Given the description of an element on the screen output the (x, y) to click on. 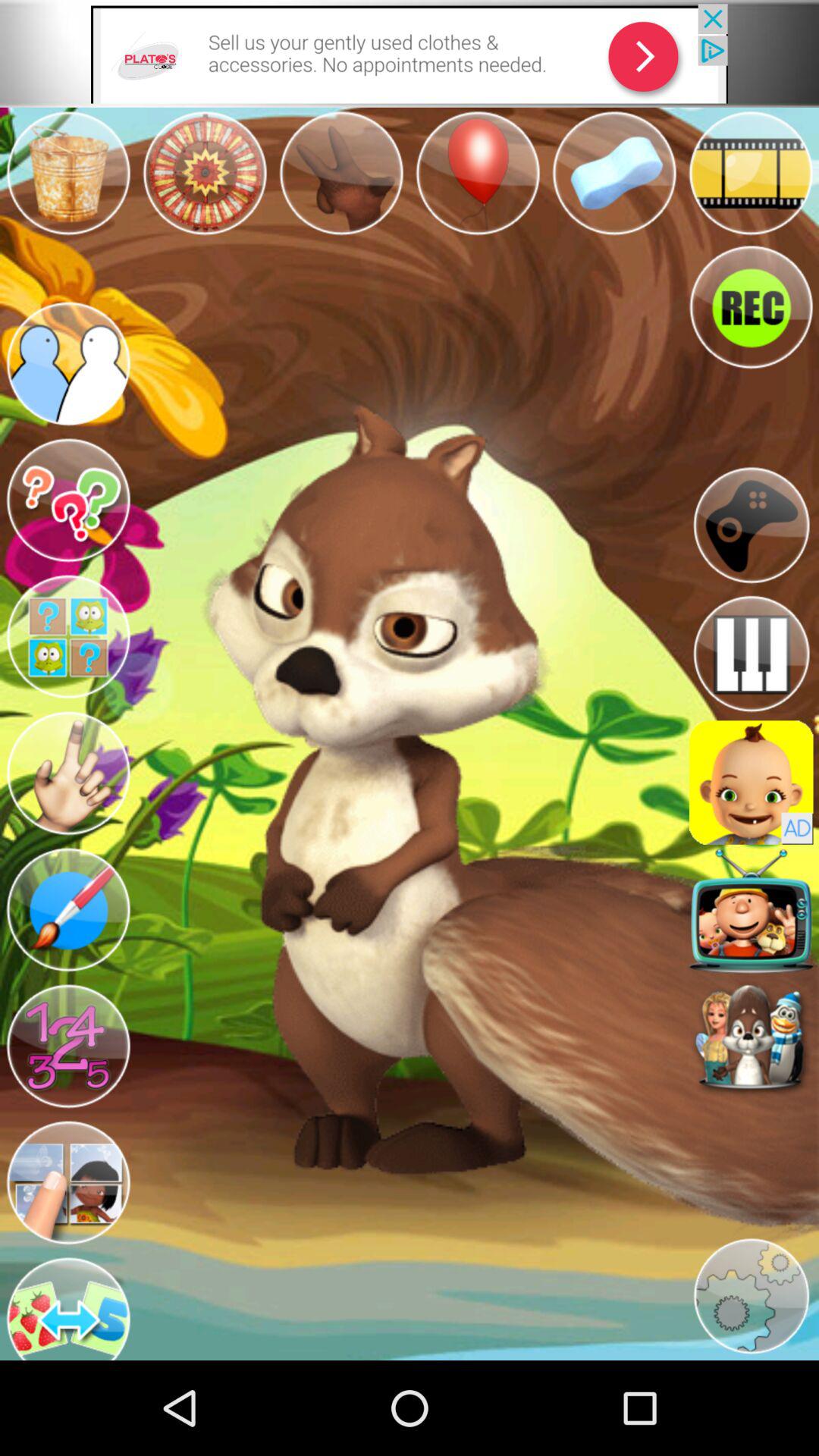
select application (751, 782)
